Given the description of an element on the screen output the (x, y) to click on. 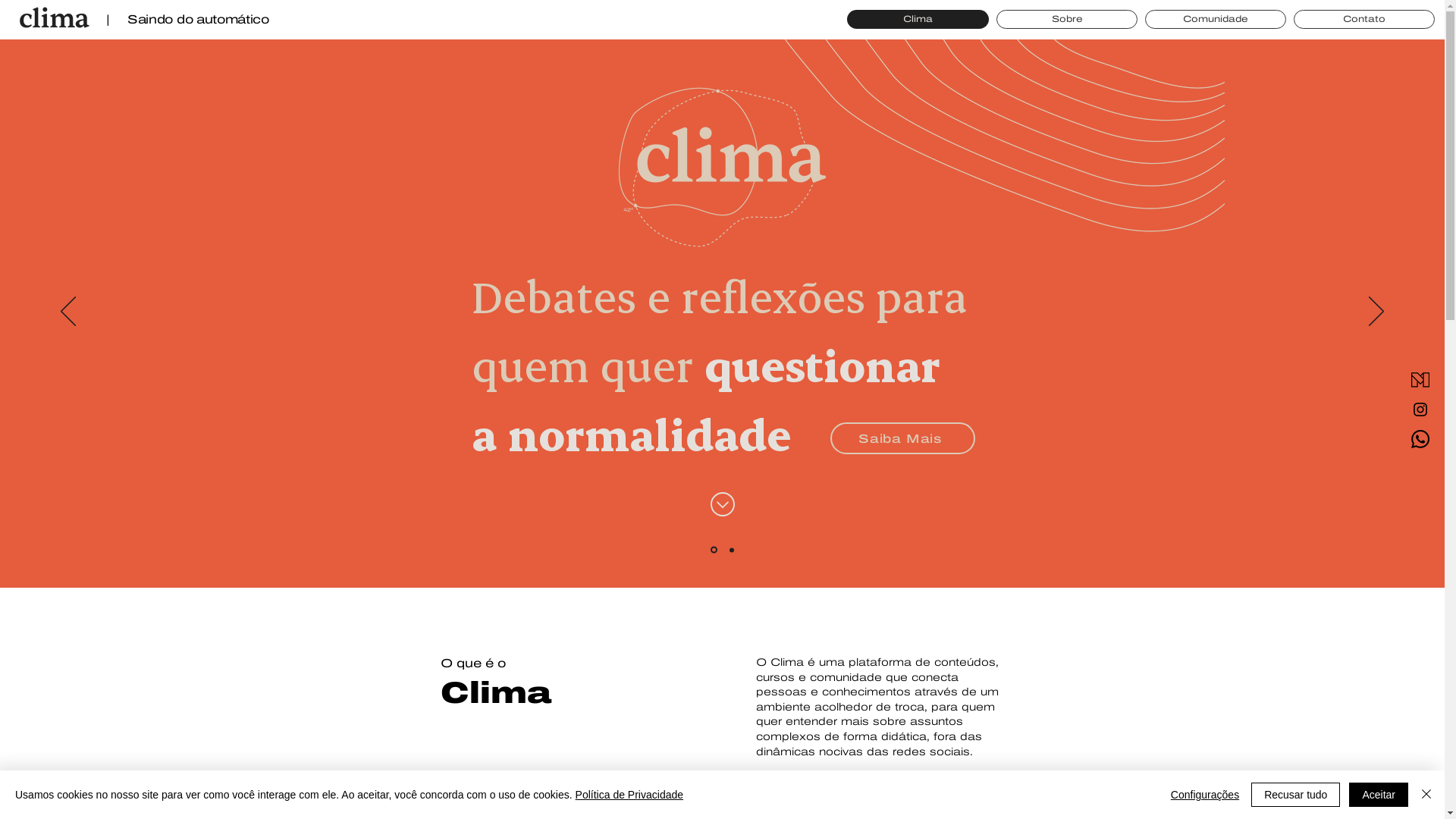
Aceitar Element type: text (1378, 794)
Recusar tudo Element type: text (1295, 794)
GRAF_BEGE_Prancheta 40.png Element type: hover (995, 266)
Comunidade Element type: text (1215, 18)
Clima Element type: text (917, 18)
Contato Element type: text (1363, 18)
Saiba Mais Element type: text (813, 799)
Saiba Mais  Element type: text (901, 438)
Sobre Element type: text (1066, 18)
